Given the description of an element on the screen output the (x, y) to click on. 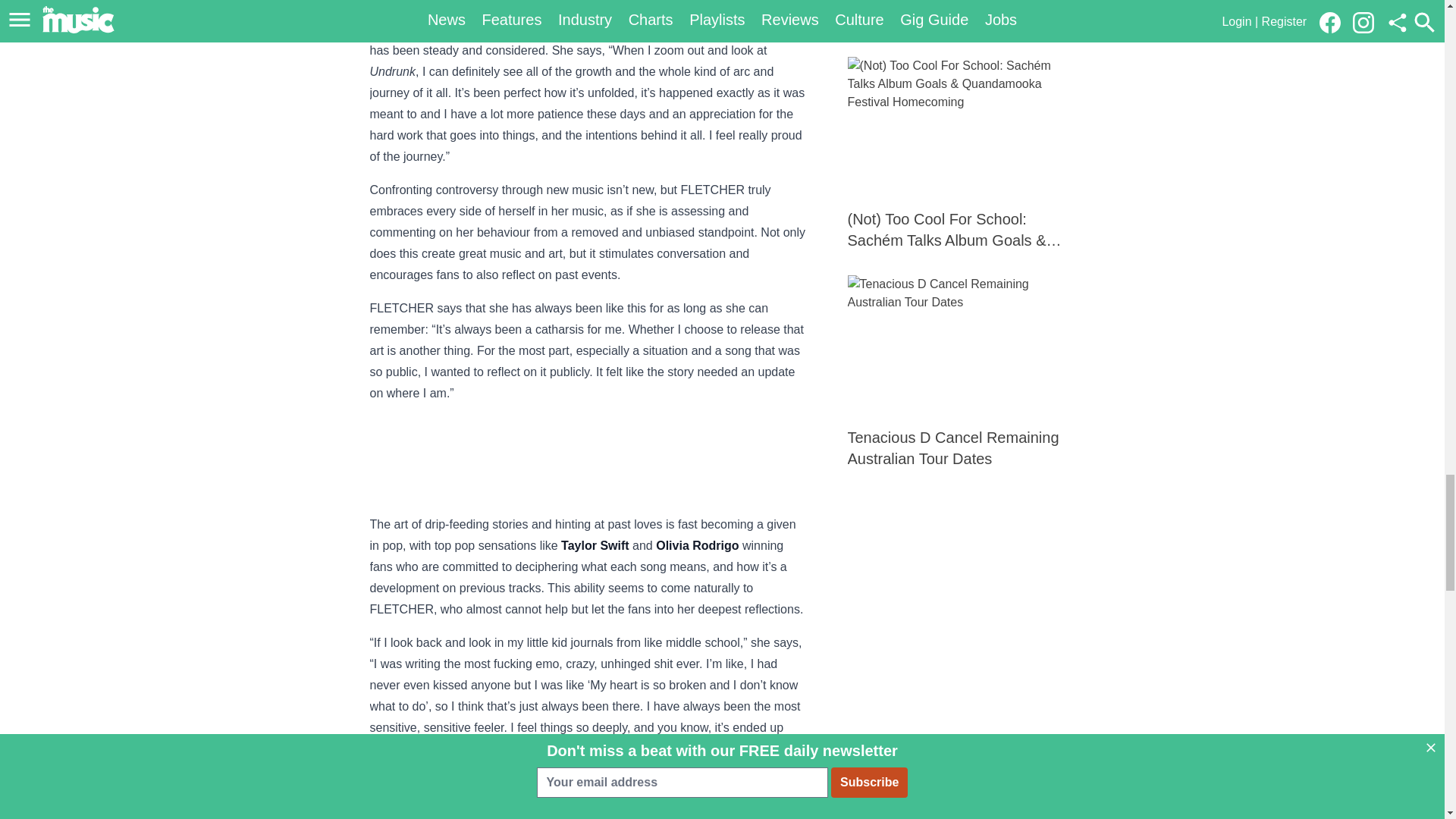
Tenacious D Cancel Remaining Australian Tour Dates (961, 372)
